Given the description of an element on the screen output the (x, y) to click on. 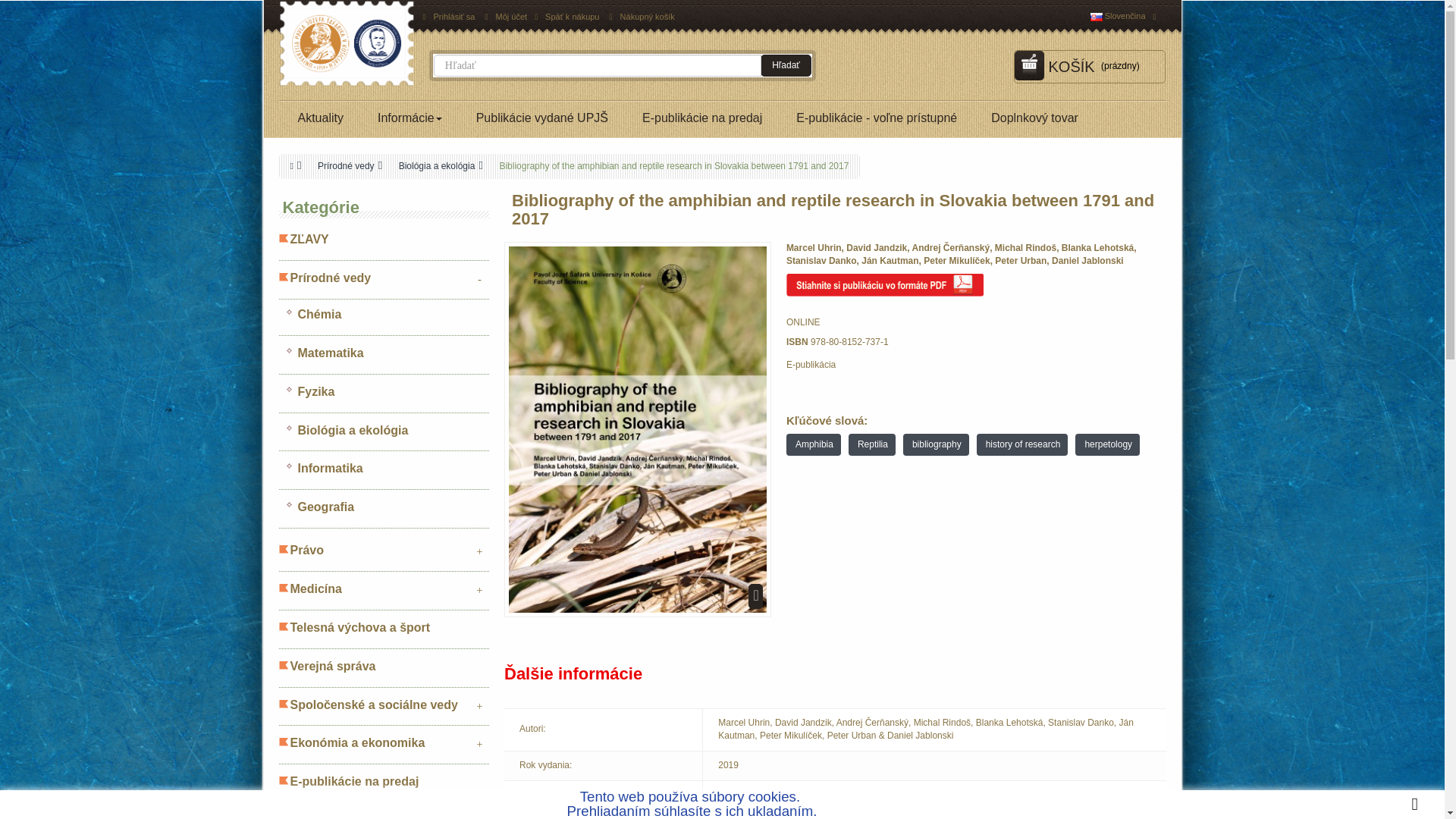
Matematika (384, 359)
Geografia (384, 513)
Informatika (384, 474)
Matematika (384, 359)
Fyzika (384, 398)
Fyzika (384, 398)
Aktuality (320, 118)
